Given the description of an element on the screen output the (x, y) to click on. 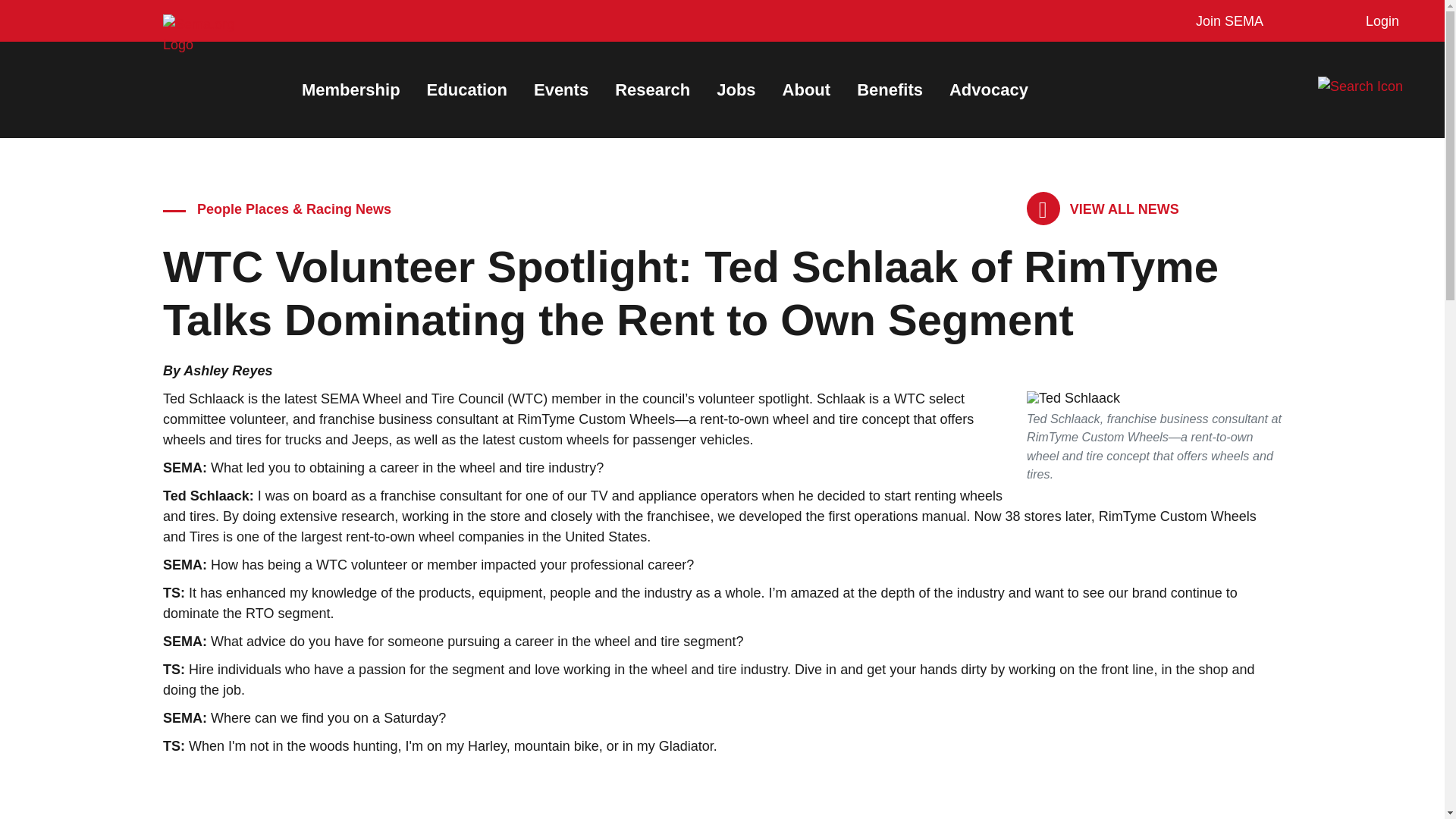
Benefits (889, 89)
Join SEMA (1225, 20)
Login (1378, 20)
Search Sema.org (1373, 86)
Membership (350, 89)
eNews archive (1102, 209)
Education (466, 89)
Advocacy (988, 89)
Research (652, 89)
